Given the description of an element on the screen output the (x, y) to click on. 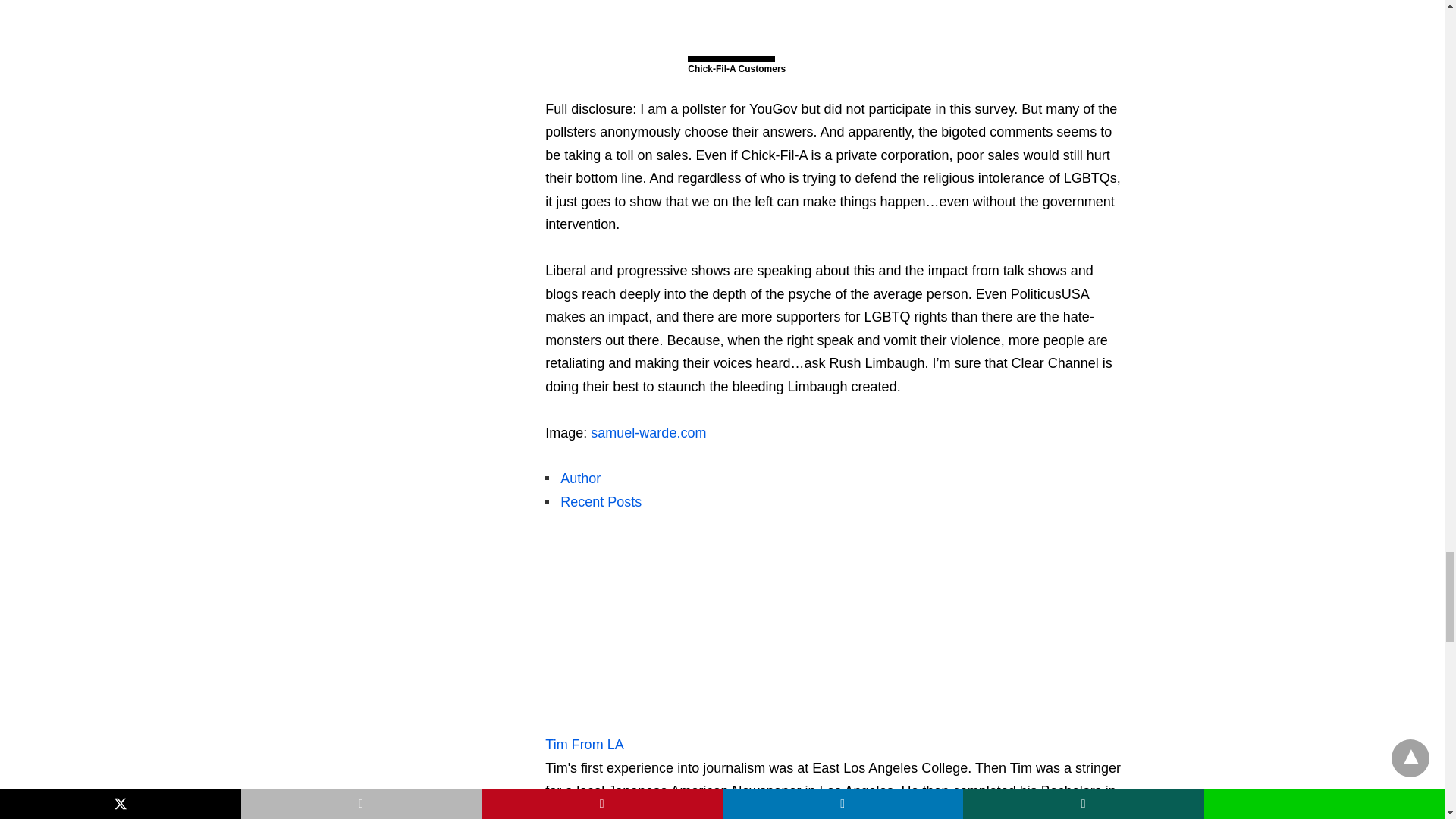
Recent Posts (609, 501)
Author (587, 478)
samuel-warde.com (648, 432)
Tim From LA (639, 720)
Tim From LA (591, 744)
